Given the description of an element on the screen output the (x, y) to click on. 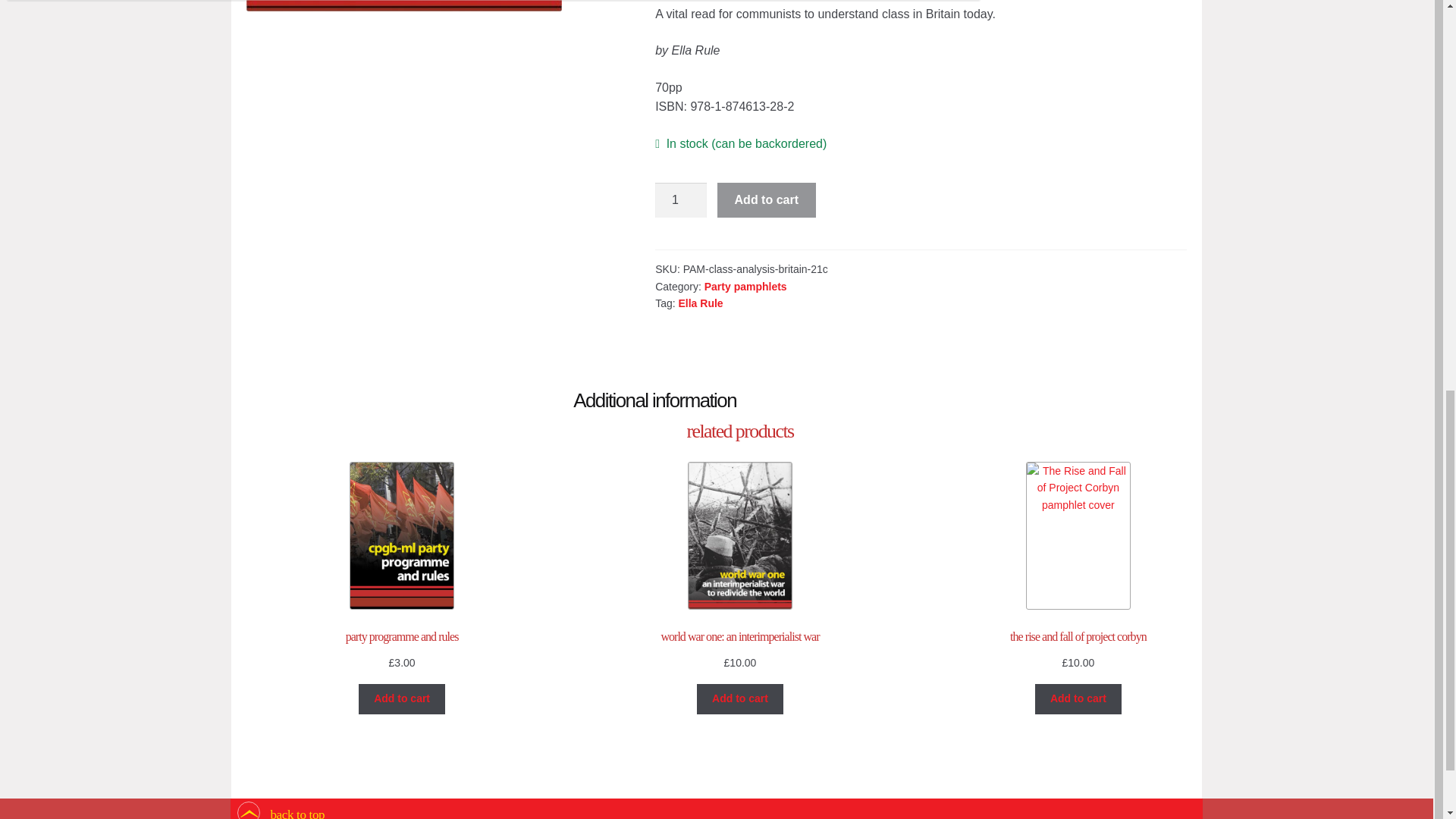
1 (680, 199)
Add to cart (766, 199)
Party pamphlets (745, 286)
